Given the description of an element on the screen output the (x, y) to click on. 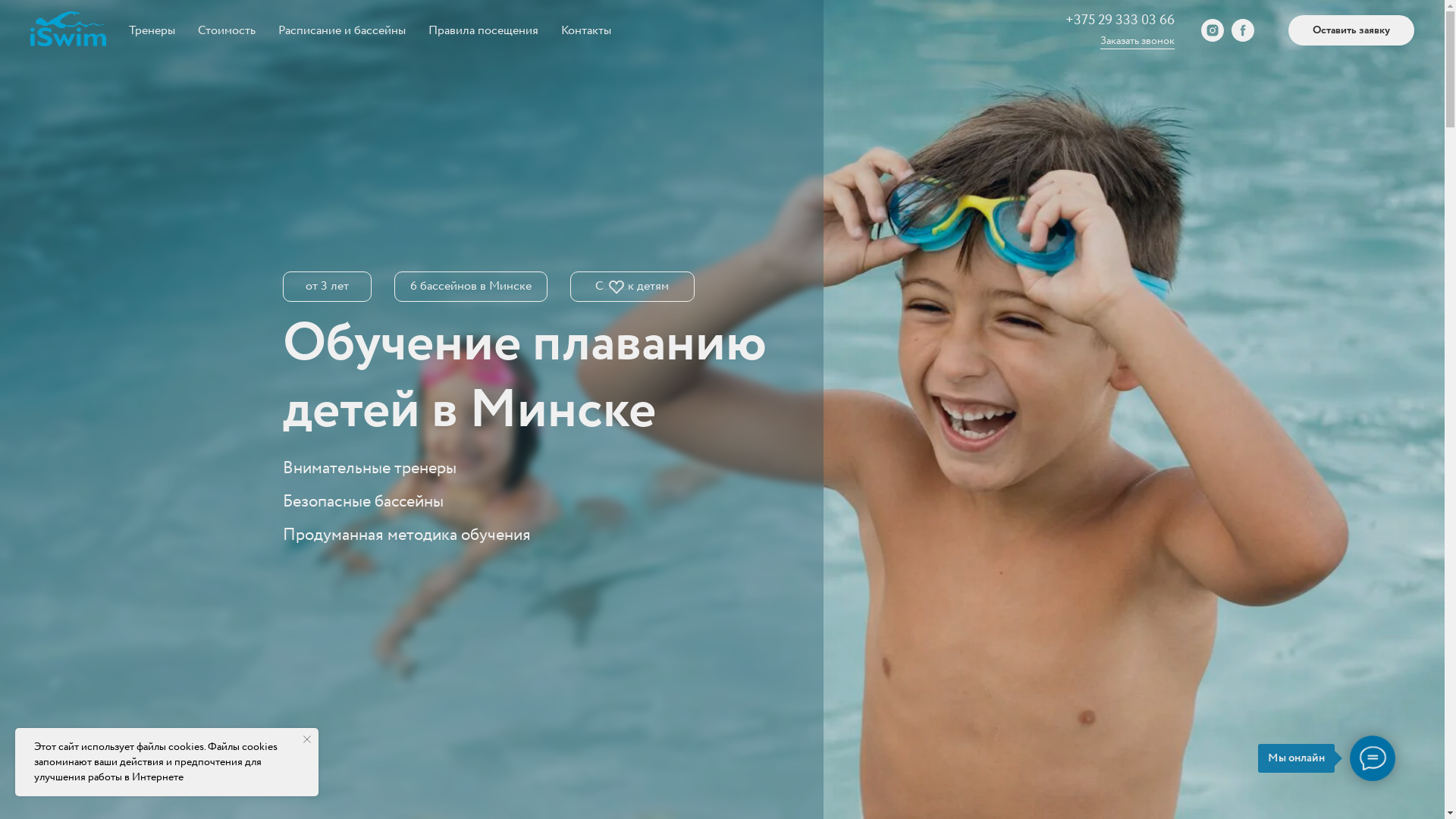
+375 29 333 03 66 Element type: text (1119, 20)
